Given the description of an element on the screen output the (x, y) to click on. 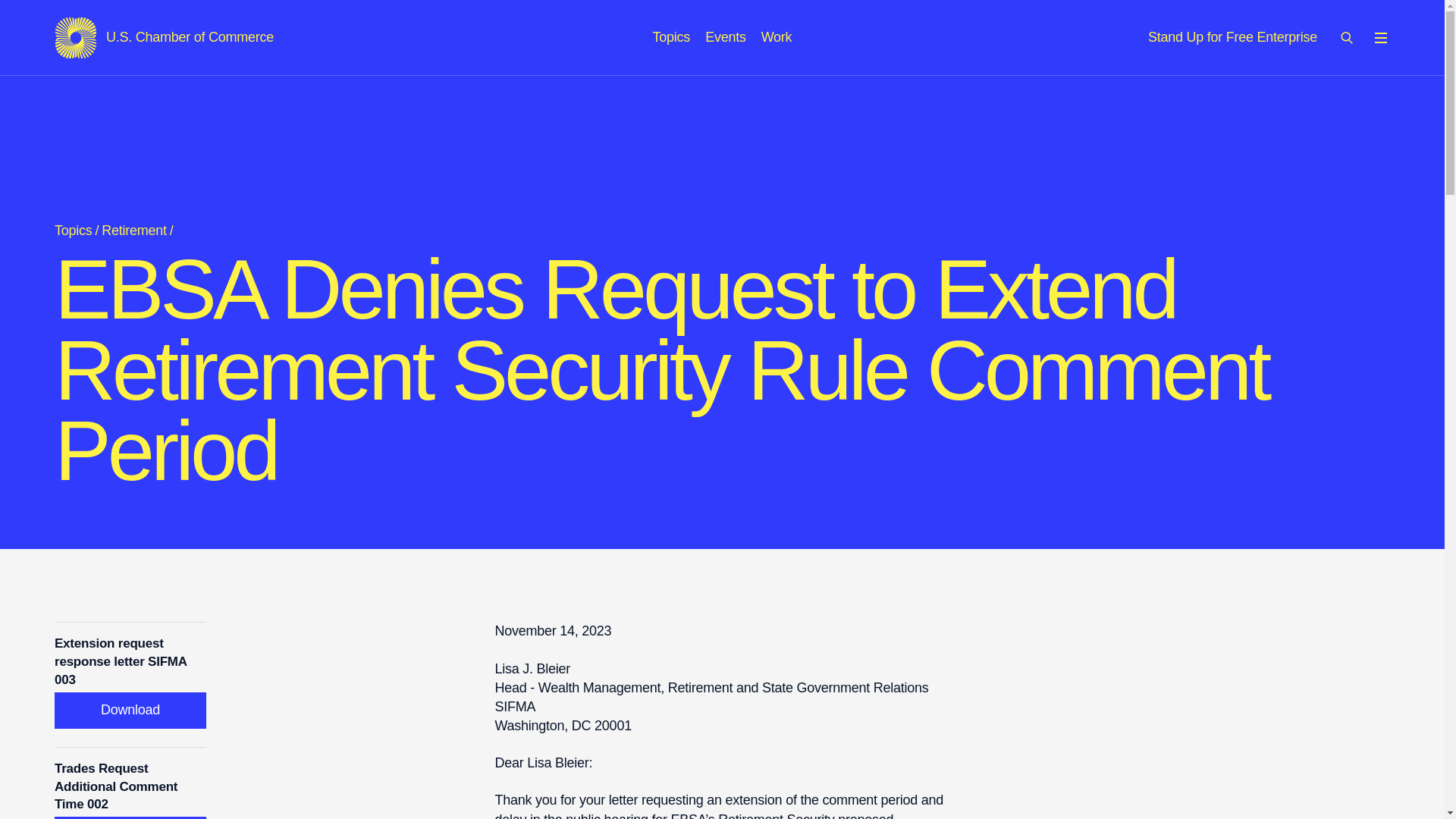
Events (724, 36)
Site Search (1347, 37)
Work (164, 37)
Menu (776, 36)
Topics (1380, 37)
Stand Up for Free Enterprise (671, 36)
